Given the description of an element on the screen output the (x, y) to click on. 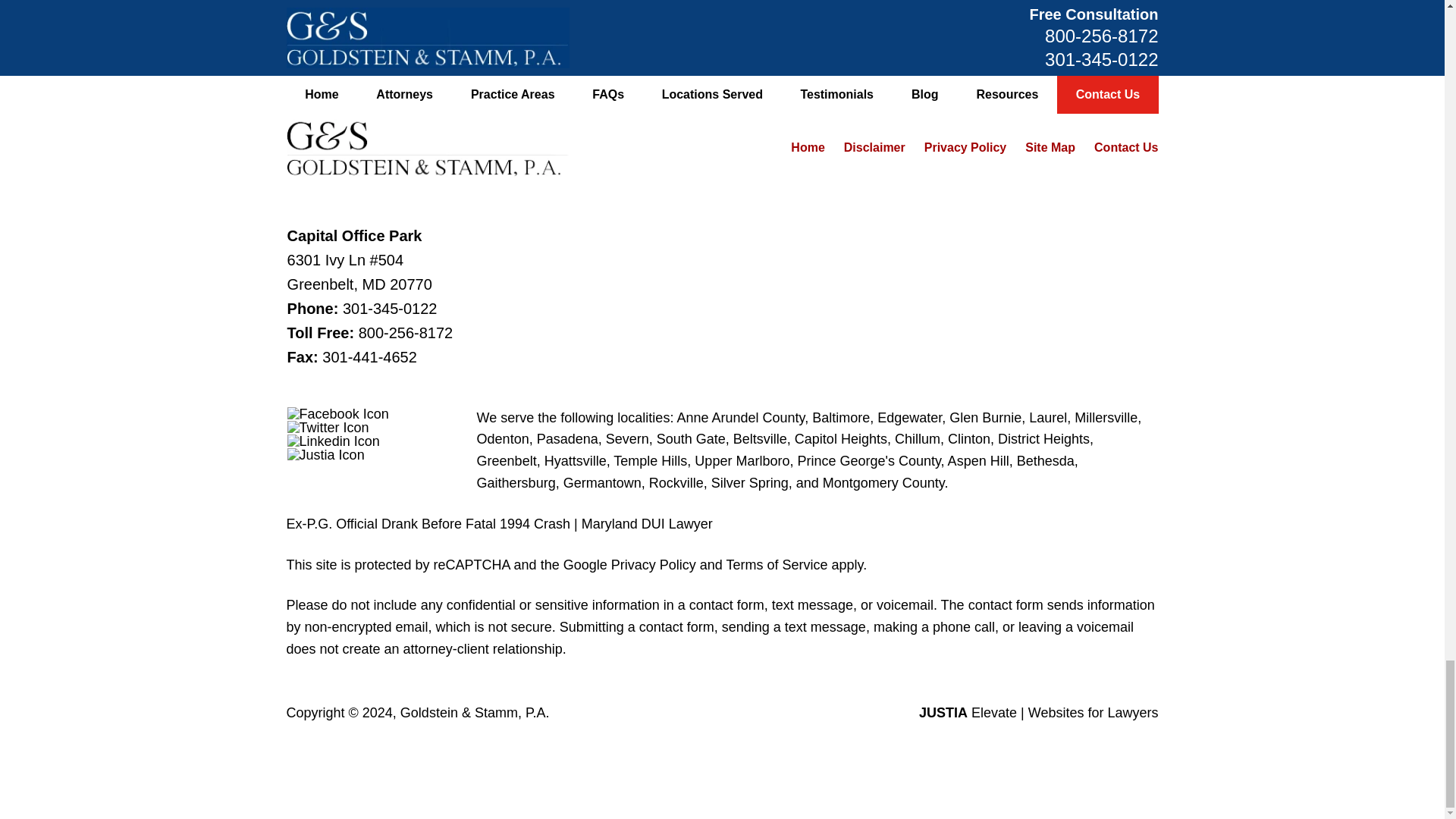
Twitter (327, 427)
Linkedin (333, 440)
Facebook (337, 413)
Justia (325, 454)
